Given the description of an element on the screen output the (x, y) to click on. 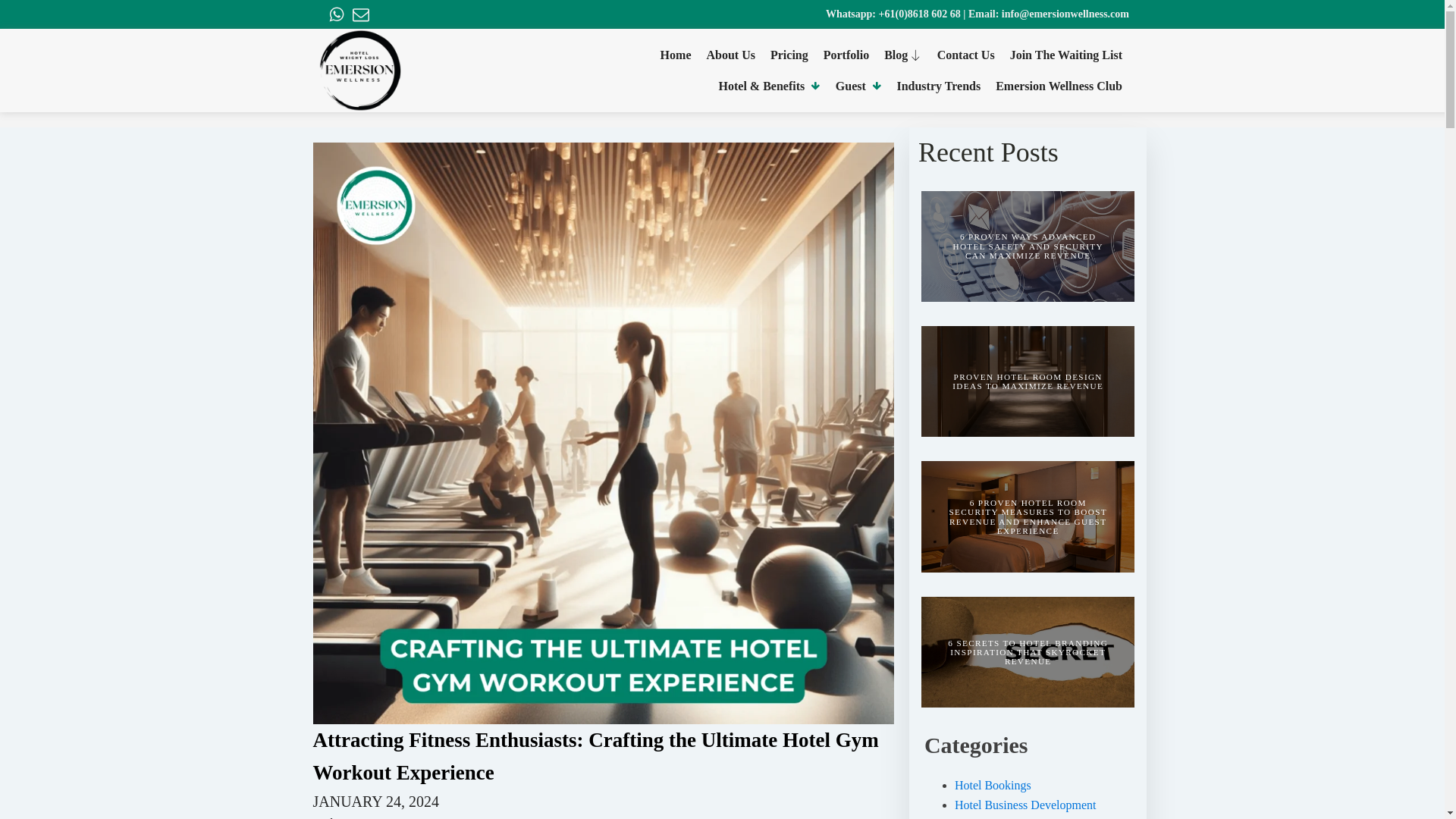
Home (679, 55)
Pricing (792, 55)
About Us (733, 55)
Portfolio (850, 55)
Blog (906, 55)
